Given the description of an element on the screen output the (x, y) to click on. 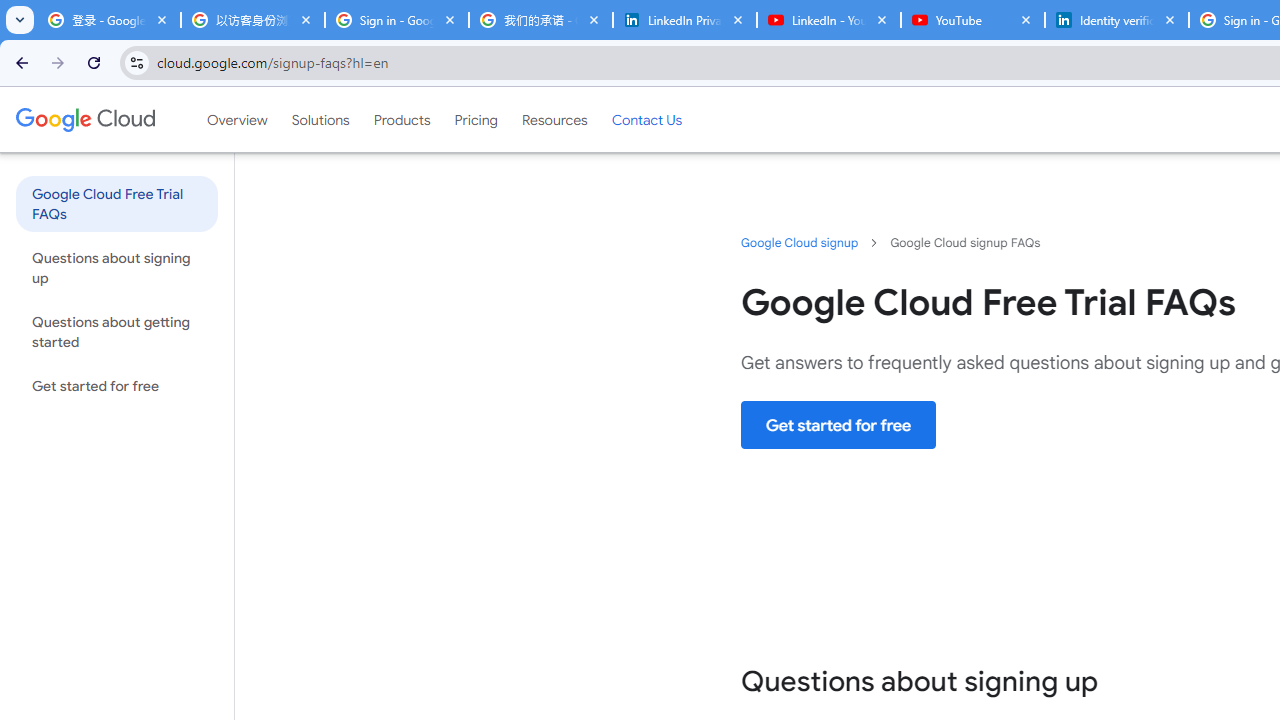
Google Cloud signup (799, 241)
LinkedIn Privacy Policy (684, 20)
Questions about signing up (116, 267)
Google Cloud Free Trial FAQs (116, 203)
Sign in - Google Accounts (396, 20)
Questions about getting started (116, 331)
LinkedIn - YouTube (828, 20)
